Given the description of an element on the screen output the (x, y) to click on. 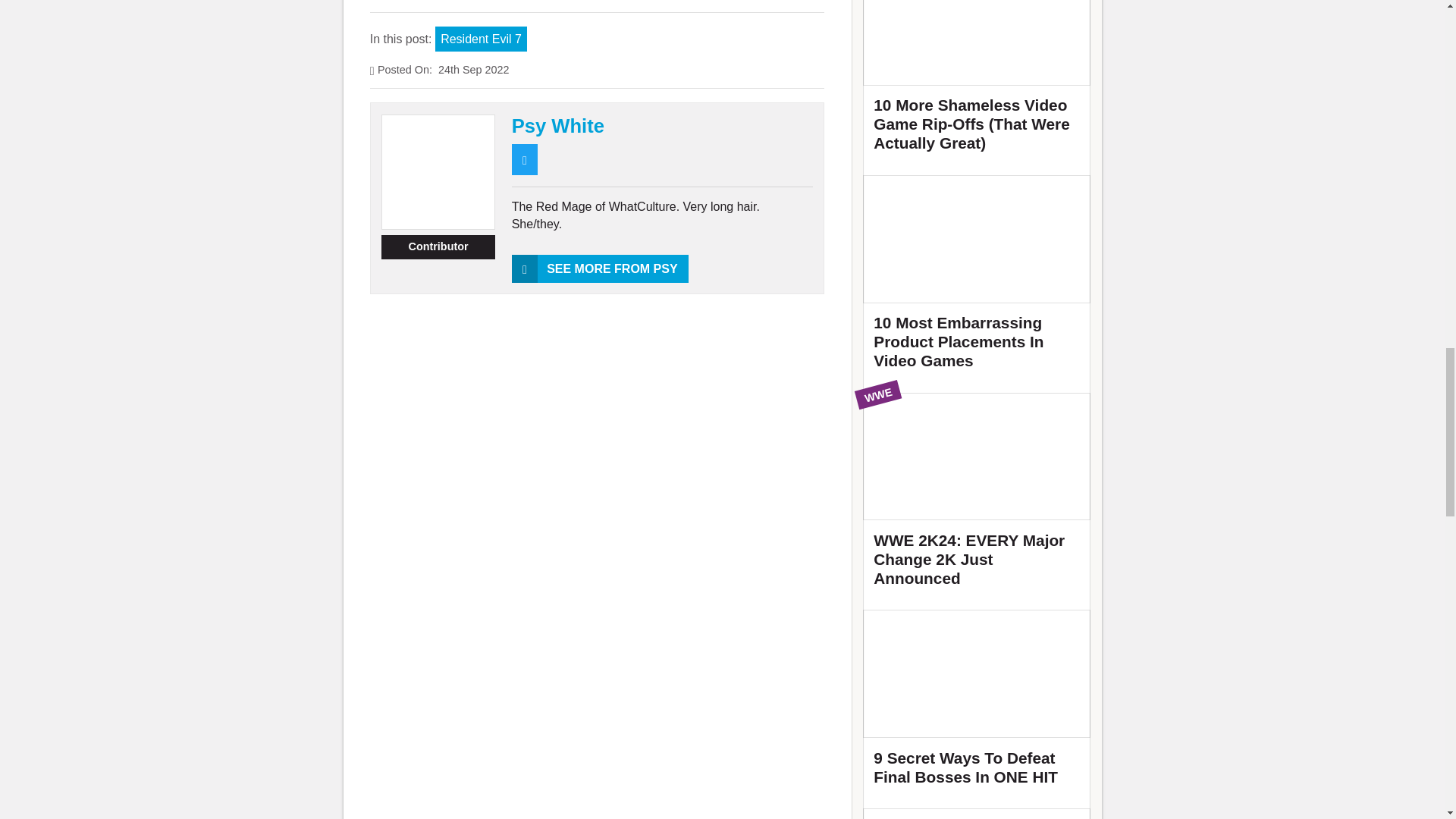
Contributor (438, 247)
10 Most Embarrassing Product Placements In Video Games (976, 278)
WWE 2K24: EVERY Major Change 2K Just Announced (976, 496)
